Given the description of an element on the screen output the (x, y) to click on. 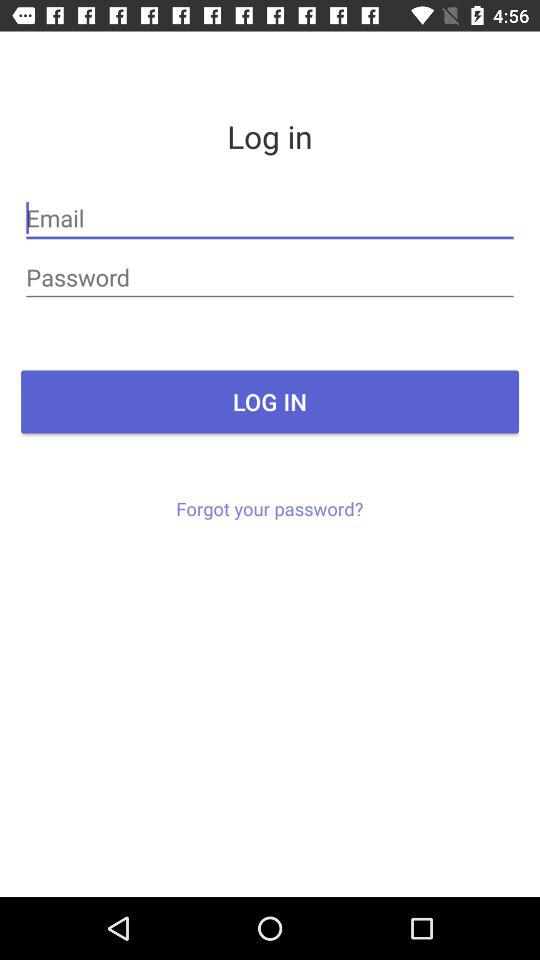
password for login (270, 277)
